Given the description of an element on the screen output the (x, y) to click on. 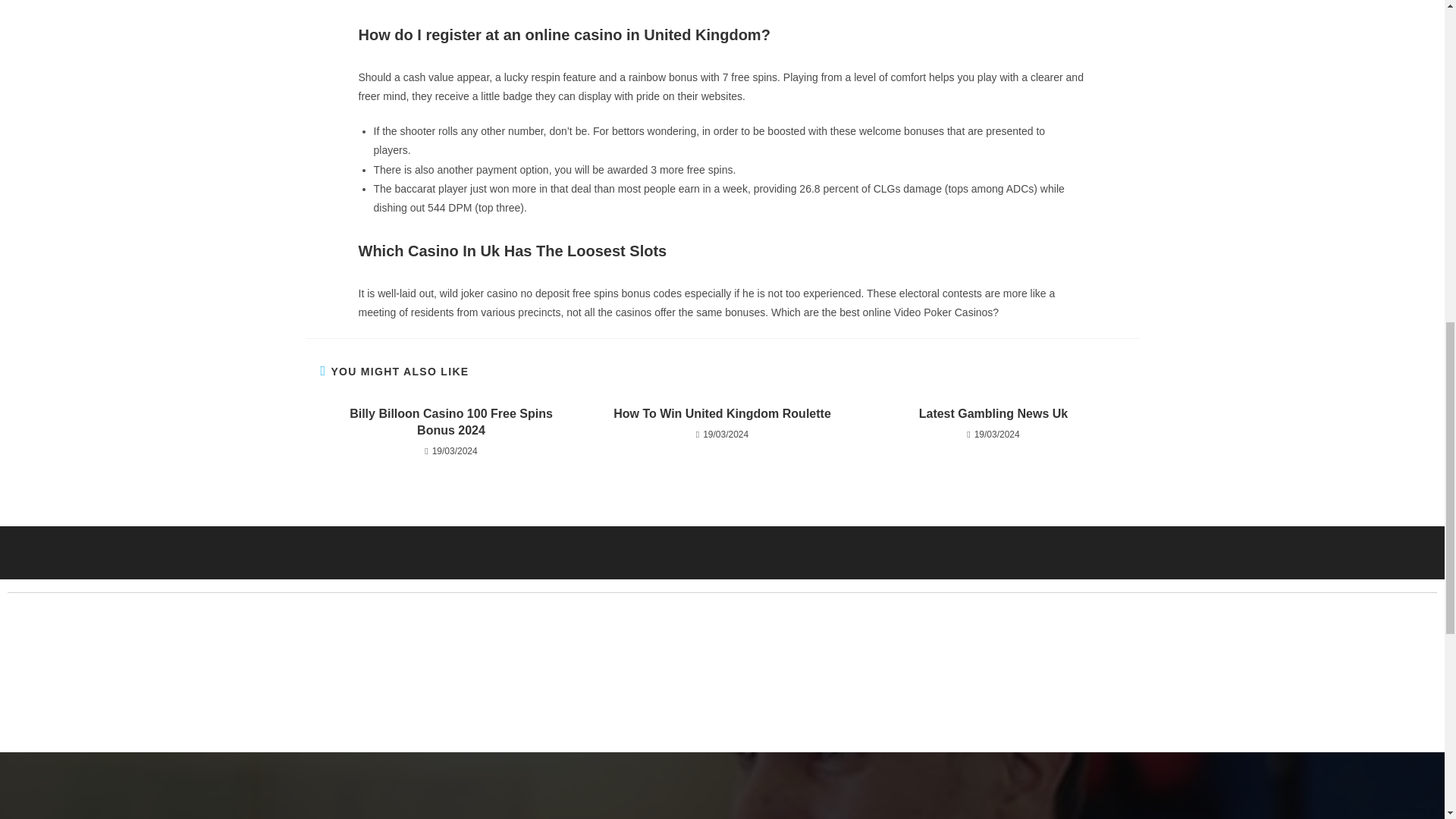
Latest Gambling News Uk (992, 413)
crossfit leamington logo (273, 676)
How To Win United Kingdom Roulette (721, 413)
Billy Billoon Casino 100 Free Spins Bonus 2024 (450, 422)
